Given the description of an element on the screen output the (x, y) to click on. 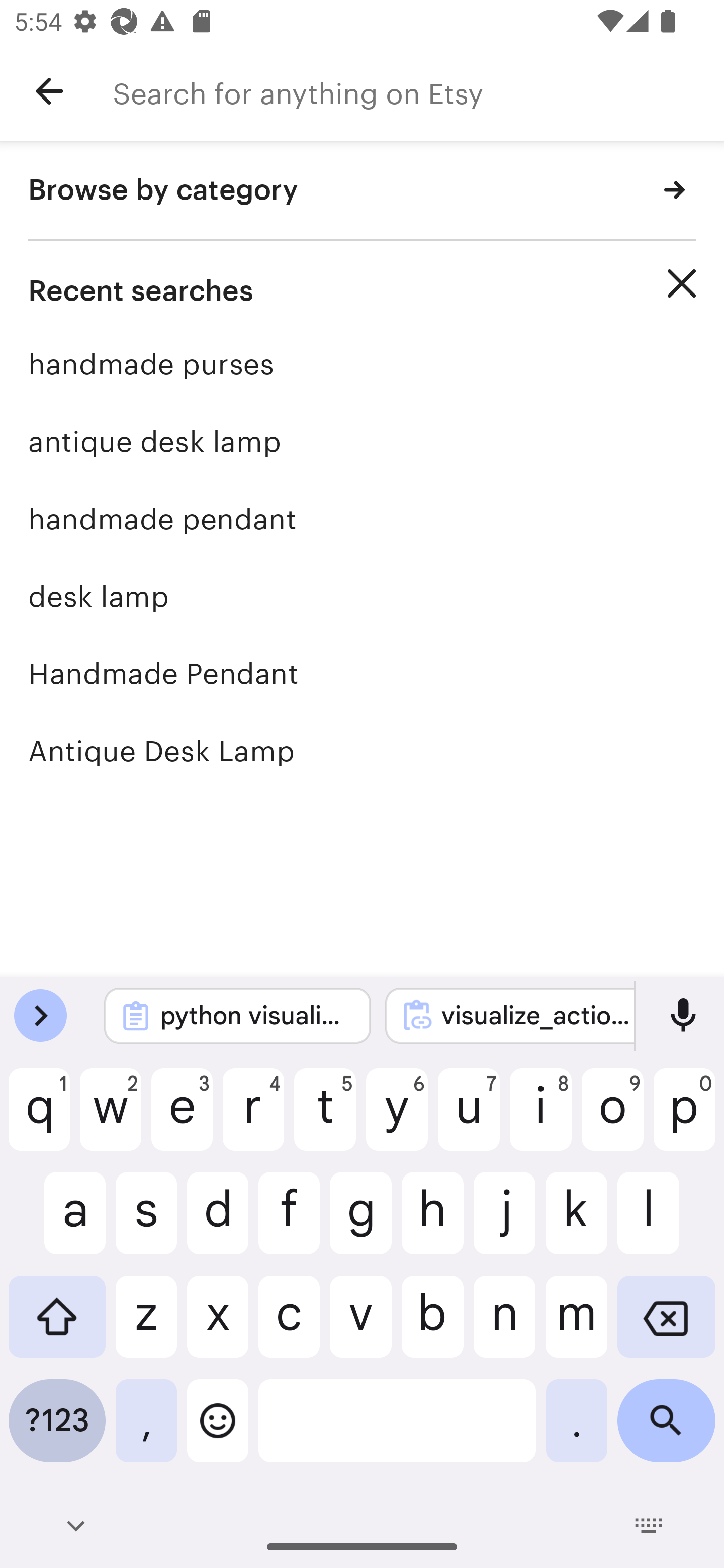
Navigate up (49, 91)
Search for anything on Etsy (418, 91)
Browse by category (362, 191)
Clear (681, 283)
handmade purses (362, 364)
antique desk lamp (362, 440)
handmade pendant (362, 518)
desk lamp (362, 596)
Handmade Pendant (362, 673)
Antique Desk Lamp (362, 750)
